Given the description of an element on the screen output the (x, y) to click on. 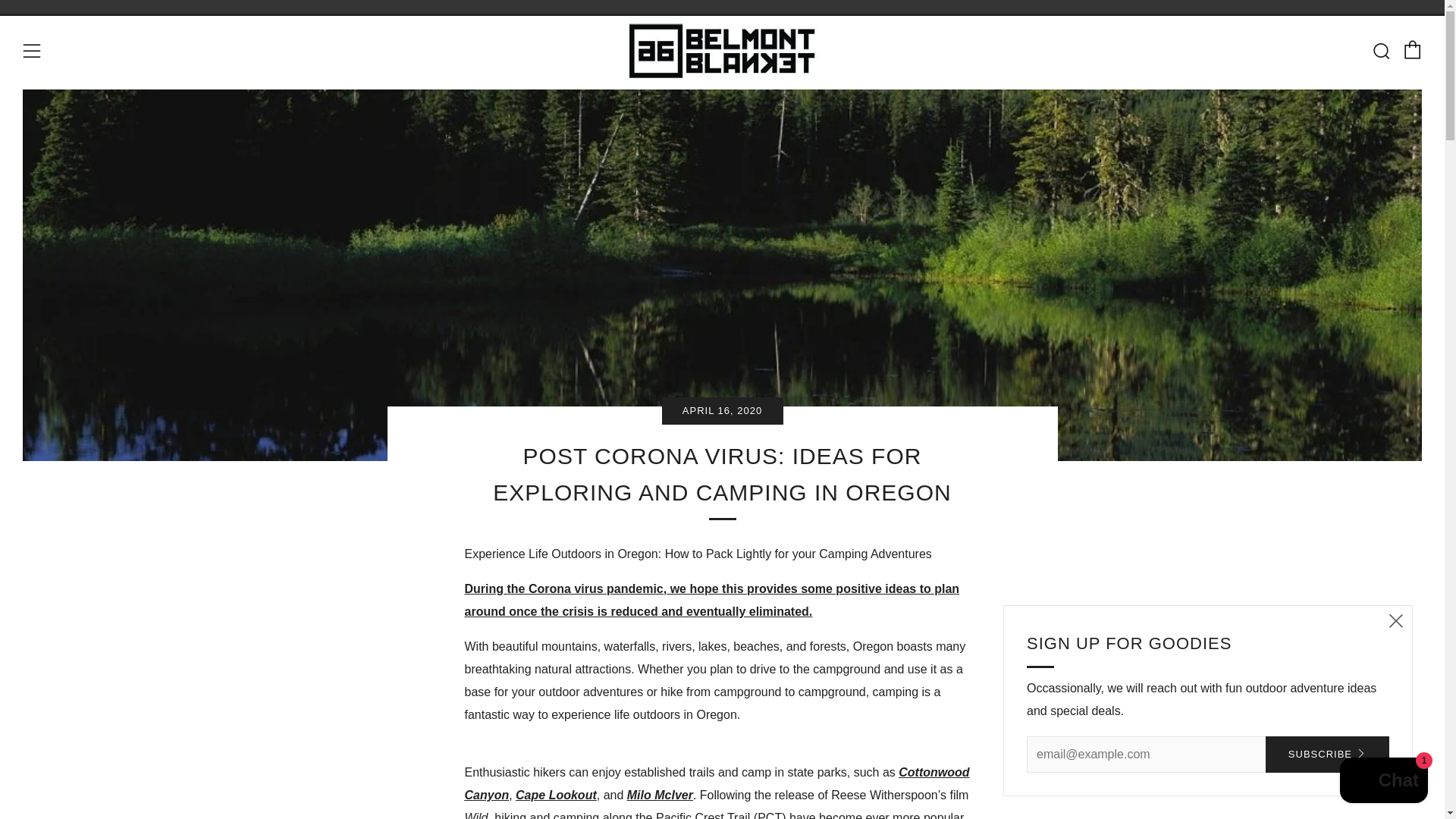
Shopify online store chat (1383, 781)
